Given the description of an element on the screen output the (x, y) to click on. 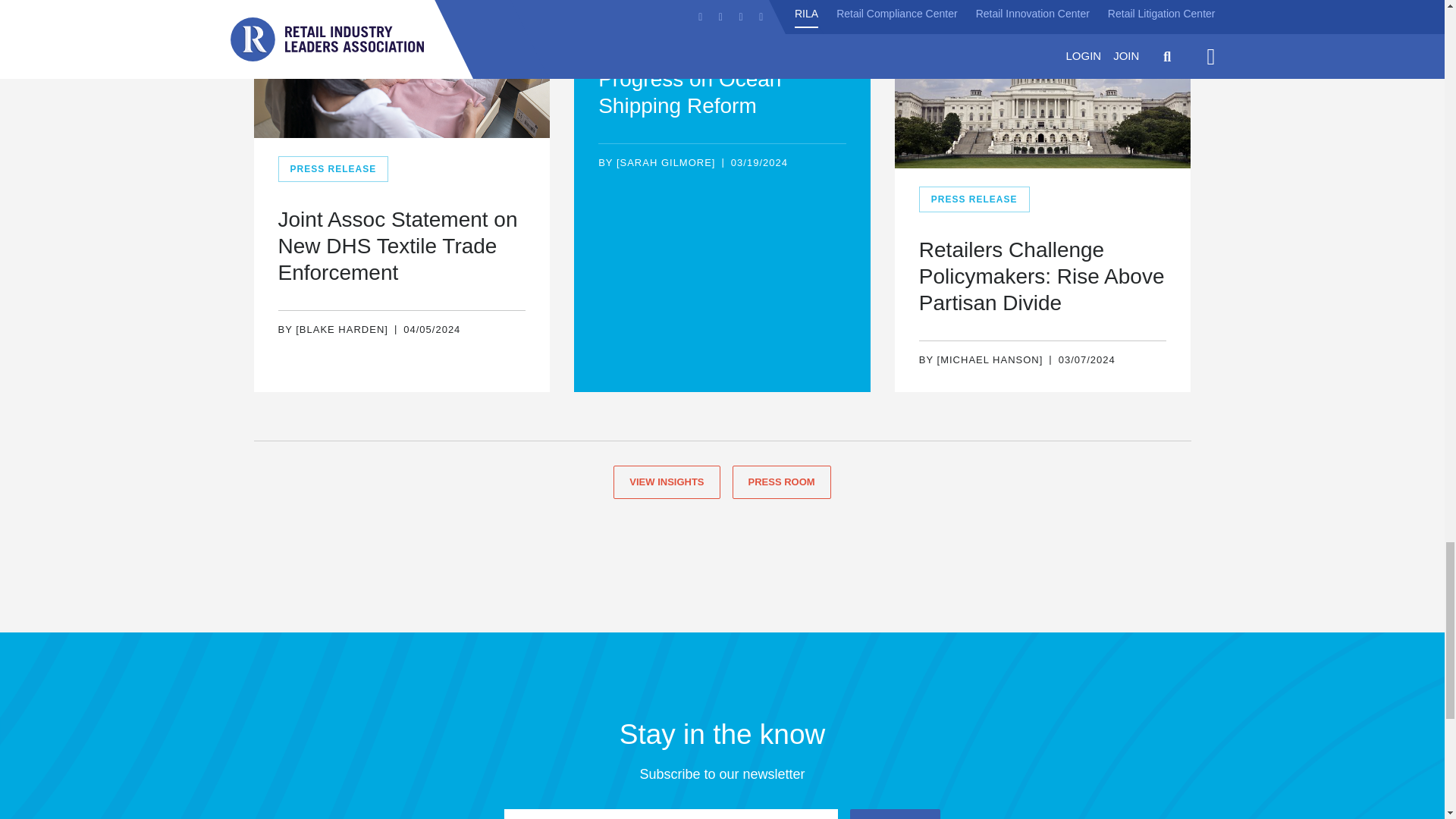
subscribe (895, 814)
